Given the description of an element on the screen output the (x, y) to click on. 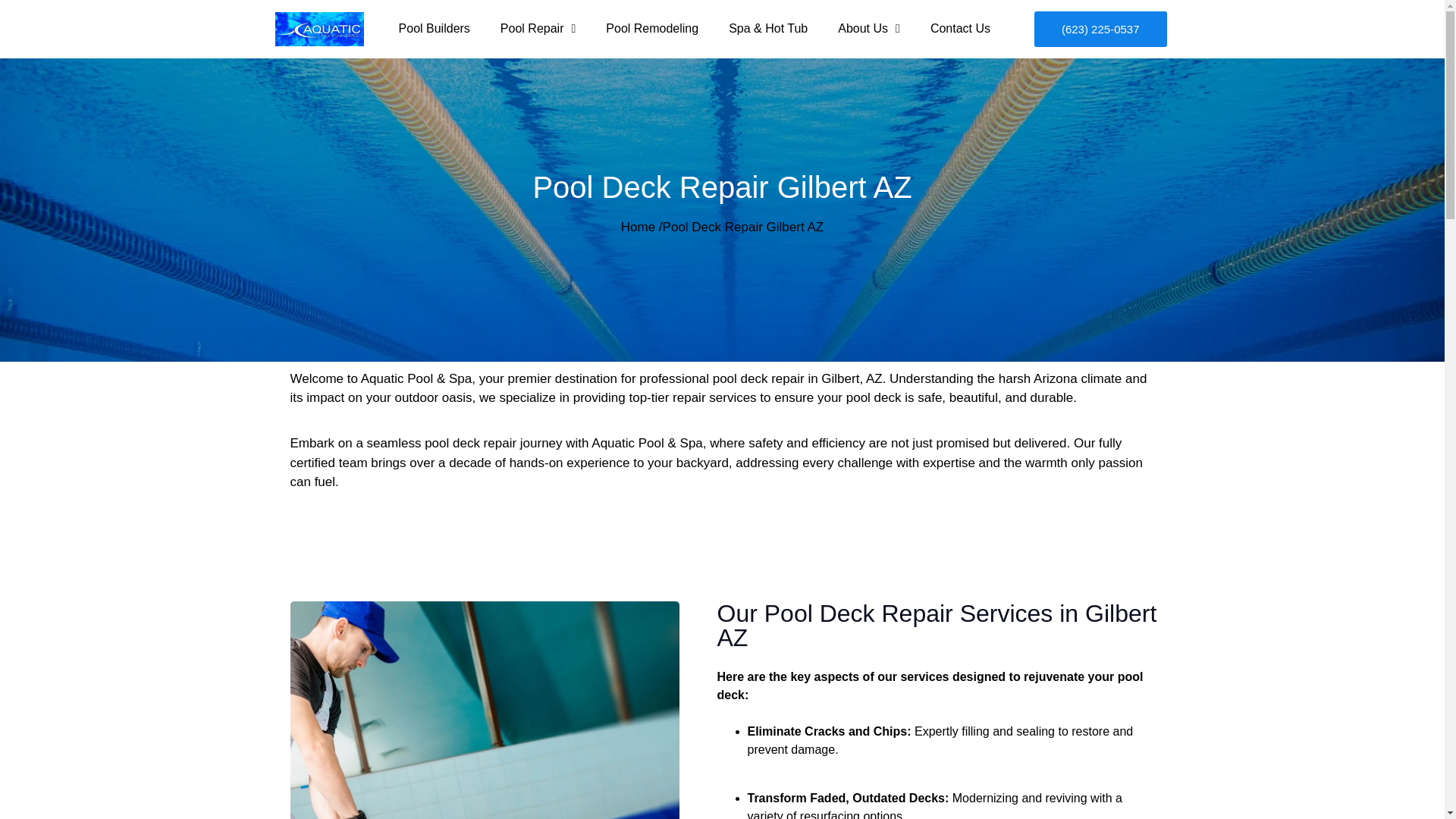
Pool Repair (537, 28)
Pool Builders (434, 28)
About Us (868, 28)
Contact Us (960, 28)
Pool Remodeling (652, 28)
